Given the description of an element on the screen output the (x, y) to click on. 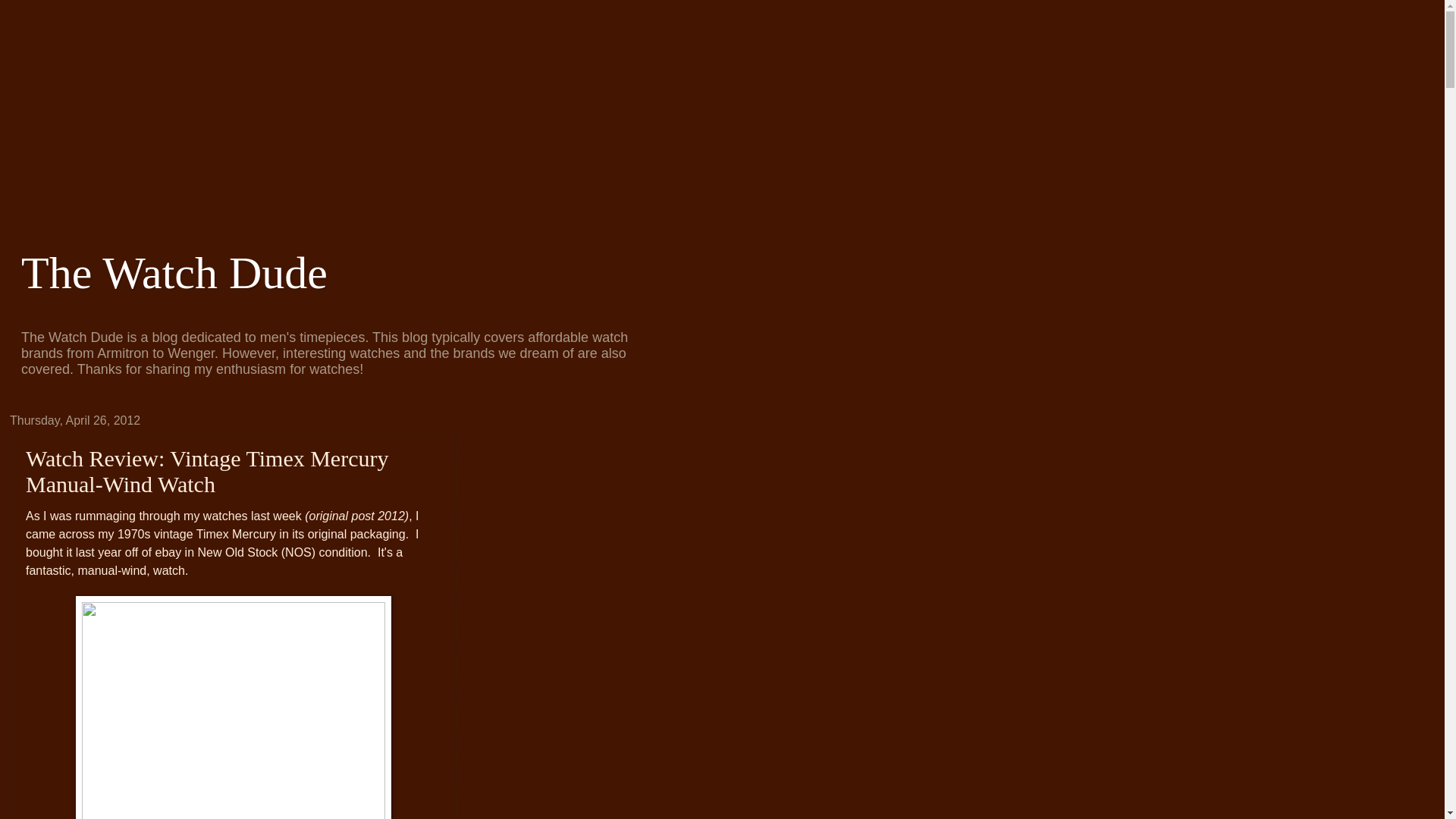
The Watch Dude (174, 273)
